Given the description of an element on the screen output the (x, y) to click on. 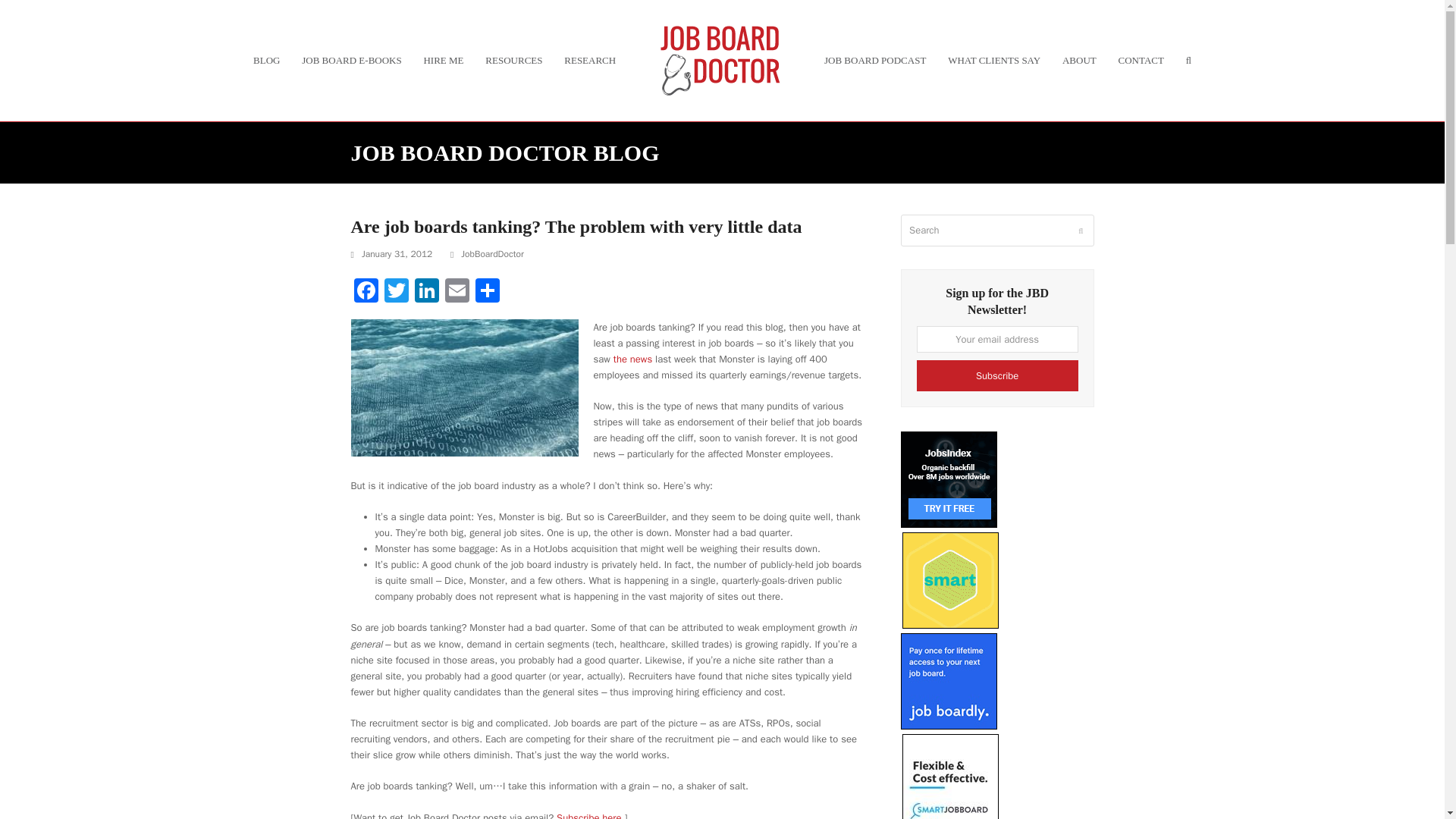
ABOUT (1079, 60)
Posts by JobBoardDoctor (492, 254)
Contact (1140, 60)
LinkedIn (425, 291)
Resources (513, 60)
About (1079, 60)
Email (456, 291)
Research (590, 60)
Share (486, 291)
Twitter (395, 291)
RESEARCH (590, 60)
CONTACT (1140, 60)
Facebook (365, 291)
Twitter (395, 291)
Email (456, 291)
